Given the description of an element on the screen output the (x, y) to click on. 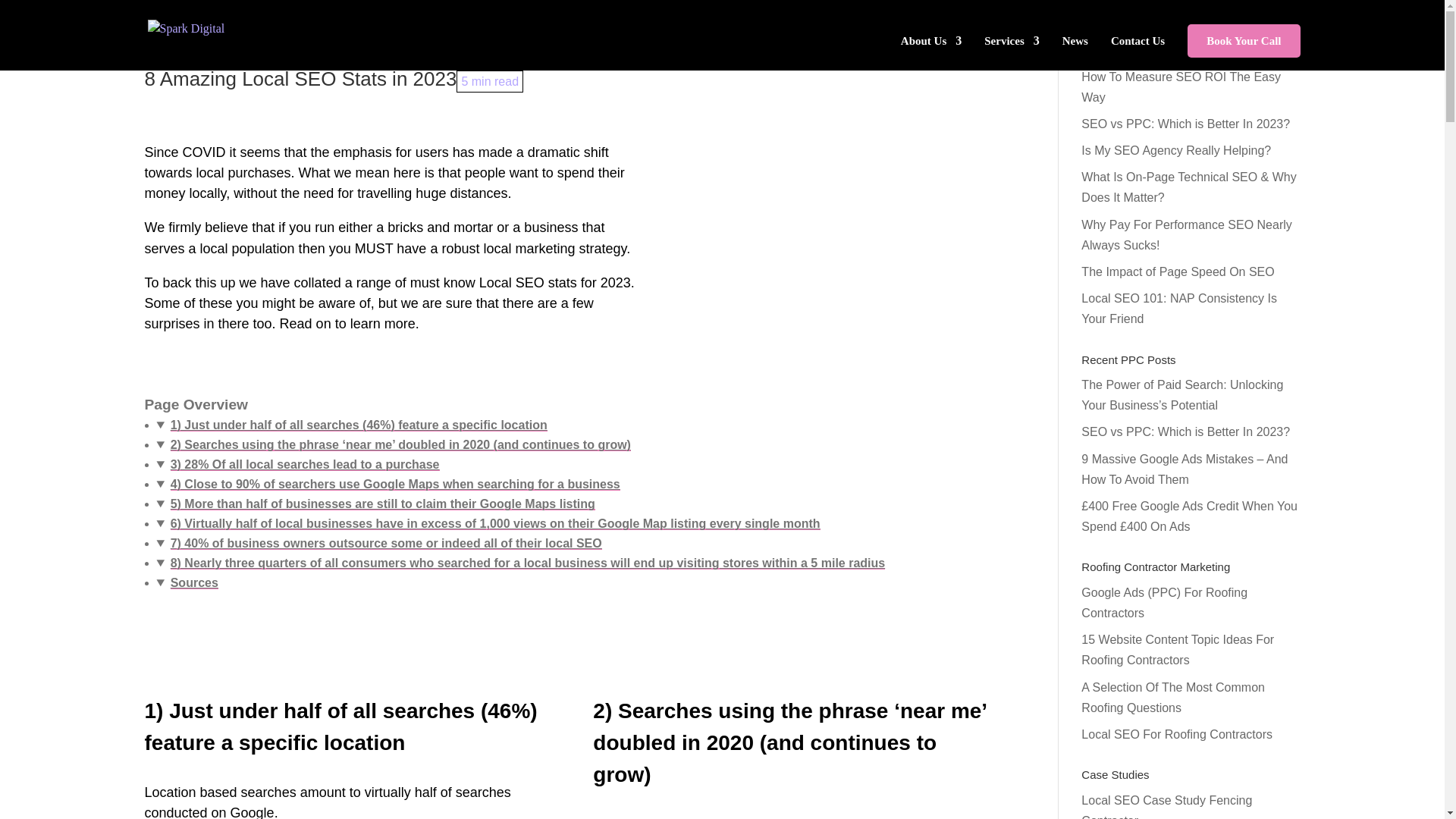
Book Your Call (1244, 40)
Services (1011, 53)
Sources (194, 582)
About Us (930, 53)
Sources (194, 582)
Contact Us (1137, 53)
